Given the description of an element on the screen output the (x, y) to click on. 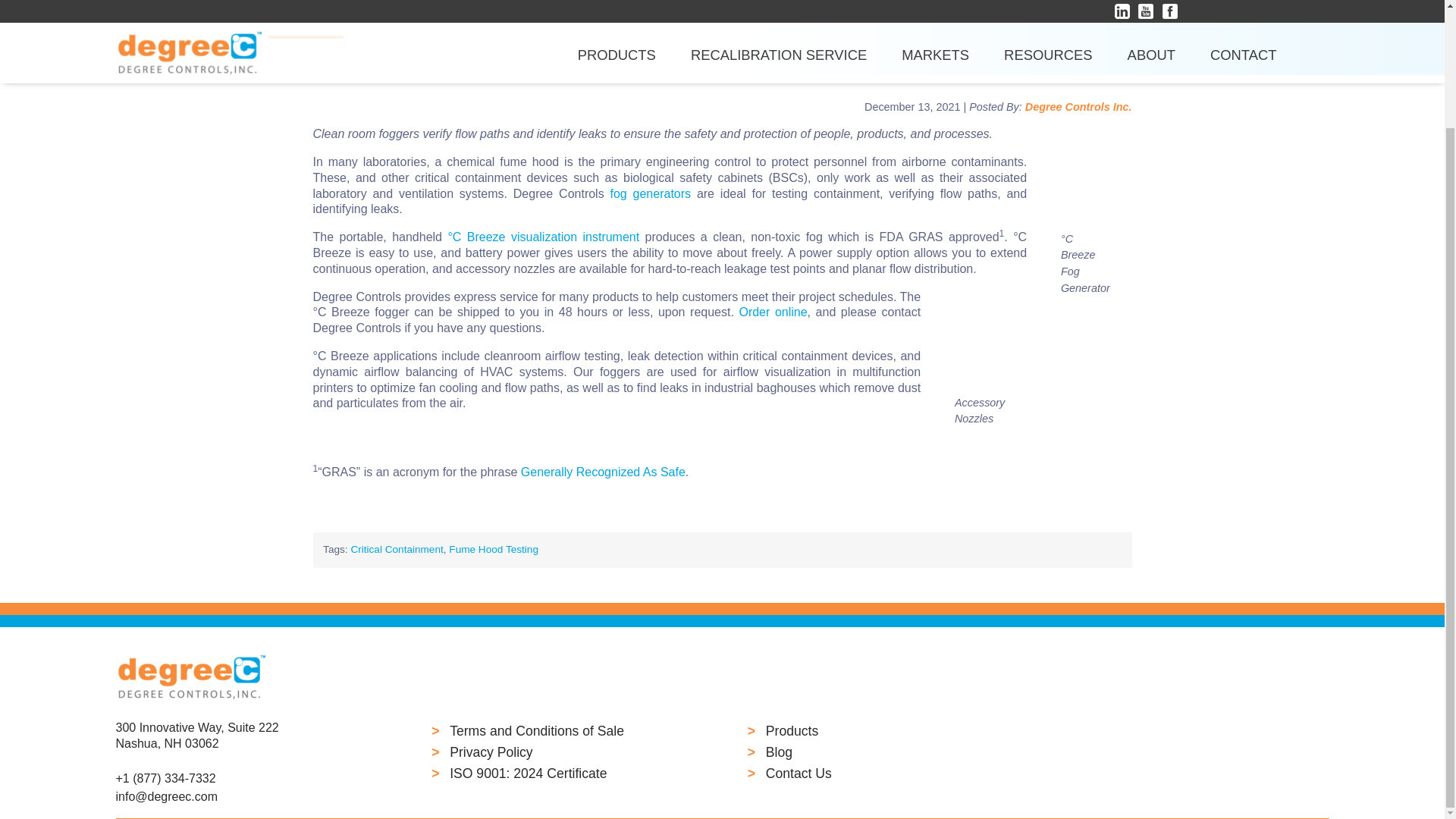
Critical Containment (396, 549)
fog generators (650, 193)
Generally Recognized As Safe (247, 743)
Fume Hood Testing (603, 472)
Order online (493, 549)
